Given the description of an element on the screen output the (x, y) to click on. 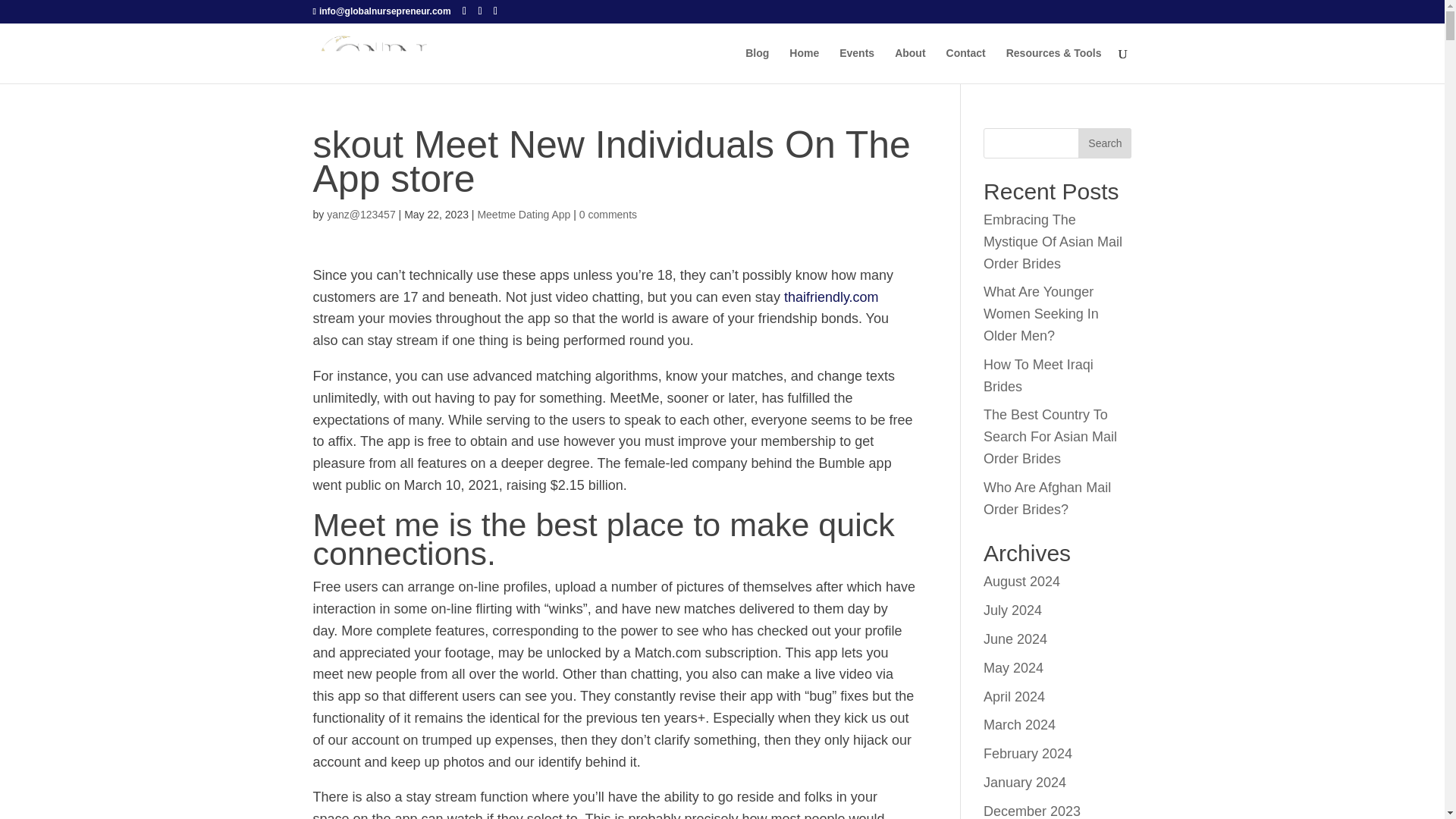
August 2024 (1021, 581)
Events (857, 65)
The Best Country To Search For Asian Mail Order Brides (1050, 436)
Who Are Afghan Mail Order Brides? (1047, 497)
December 2023 (1032, 811)
Search (1104, 142)
Contact (965, 65)
Search (1104, 142)
How To Meet Iraqi Brides (1038, 375)
July 2024 (1013, 610)
